Given the description of an element on the screen output the (x, y) to click on. 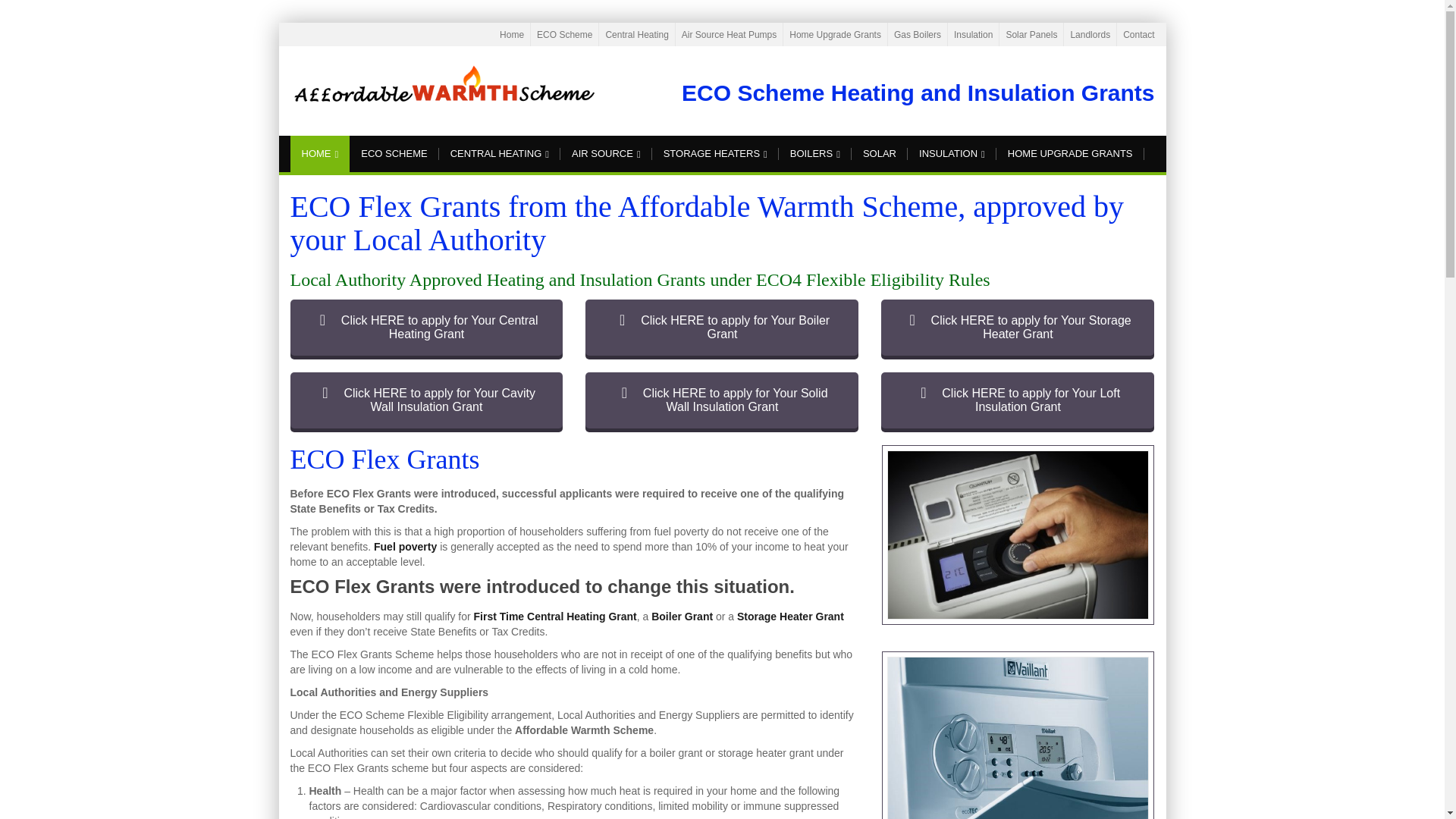
Affordable Warmth Scheme (442, 86)
Contact (1138, 34)
Air Source Heat Pumps (728, 34)
Solid Wall Insulation Grants (722, 400)
Home (511, 34)
Gas Boilers (916, 34)
Solar Panels (1031, 34)
Storage Heater Grants (1017, 327)
Home Upgrade Grants (834, 34)
Central Heating (636, 34)
ECO Scheme (564, 34)
Insulation (972, 34)
Landlords (1089, 34)
